Given the description of an element on the screen output the (x, y) to click on. 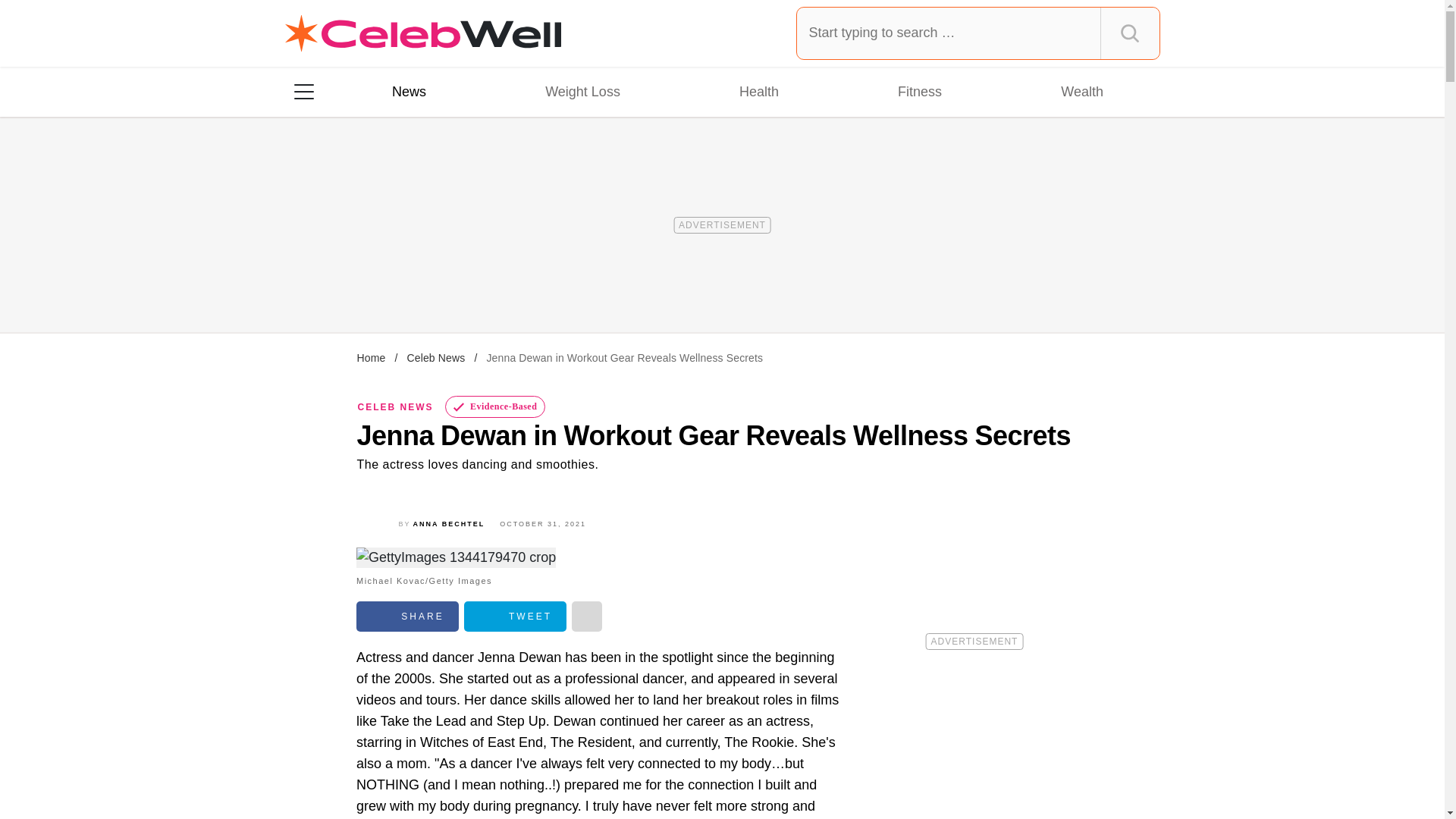
CELEB NEWS (395, 407)
Celebwell Homepage (422, 33)
Health (758, 91)
Evidence-Based (495, 406)
Share via e-mail (587, 616)
Celeb News (435, 357)
Facebook (407, 616)
Posts by Anna Bechtel (448, 523)
Share on Facebook (407, 616)
Type and press Enter to search (978, 32)
